Given the description of an element on the screen output the (x, y) to click on. 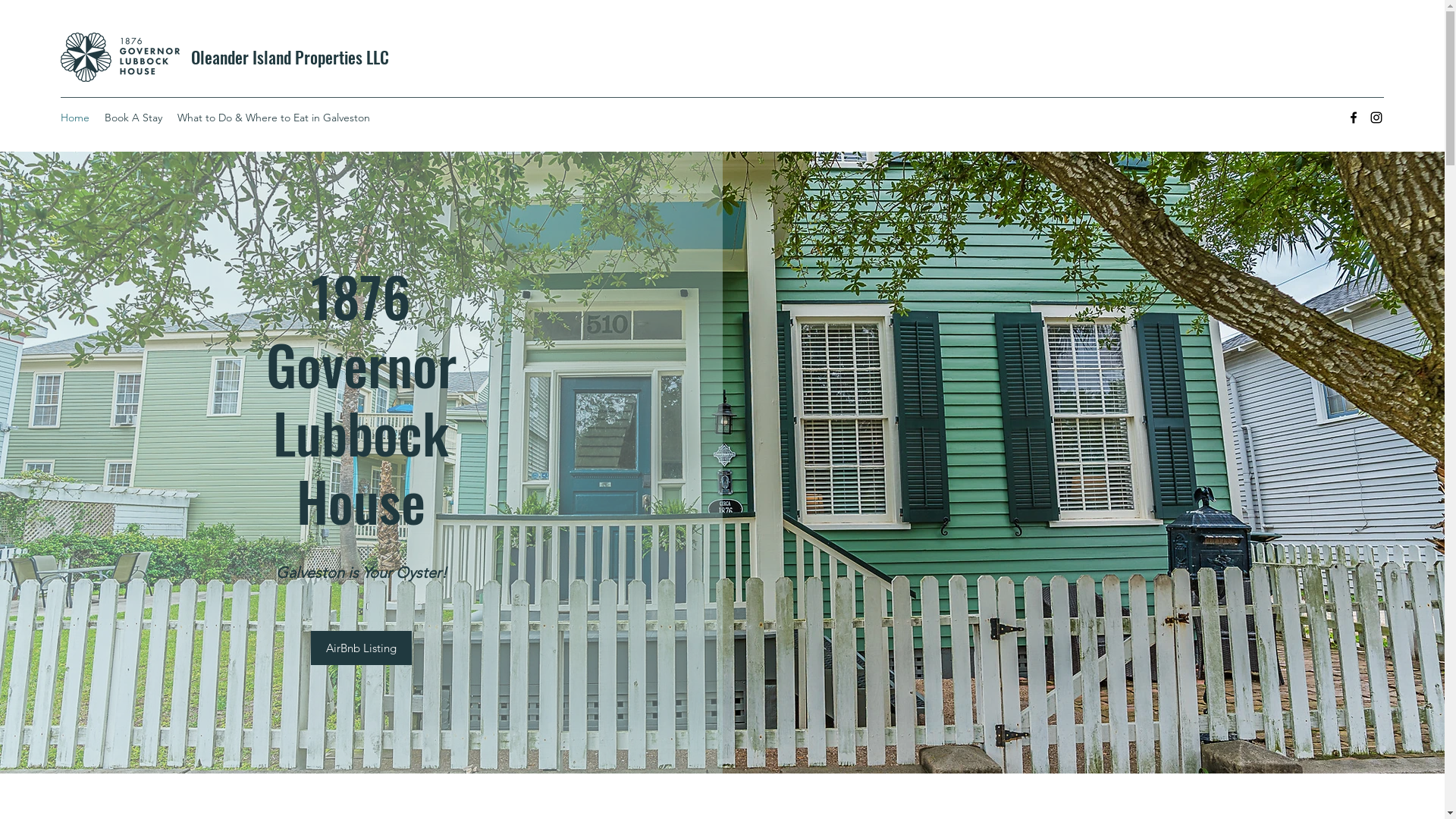
Oleander Island Properties LLC Element type: text (290, 56)
Book A Stay Element type: text (133, 117)
AirBnb Listing Element type: text (360, 647)
What to Do & Where to Eat in Galveston Element type: text (273, 117)
Home Element type: text (75, 117)
